Given the description of an element on the screen output the (x, y) to click on. 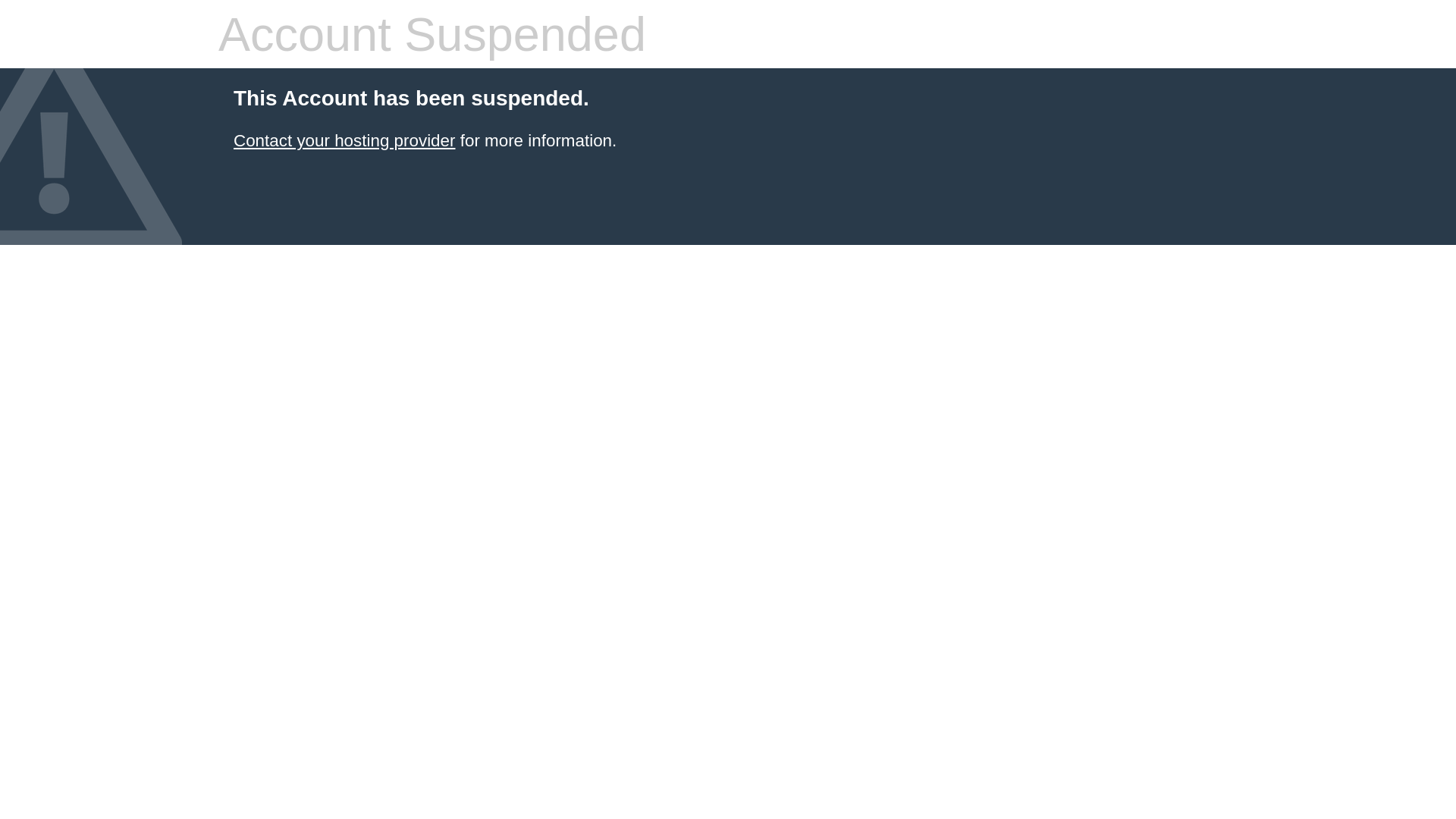
Contact your hosting provider Element type: text (344, 140)
